Given the description of an element on the screen output the (x, y) to click on. 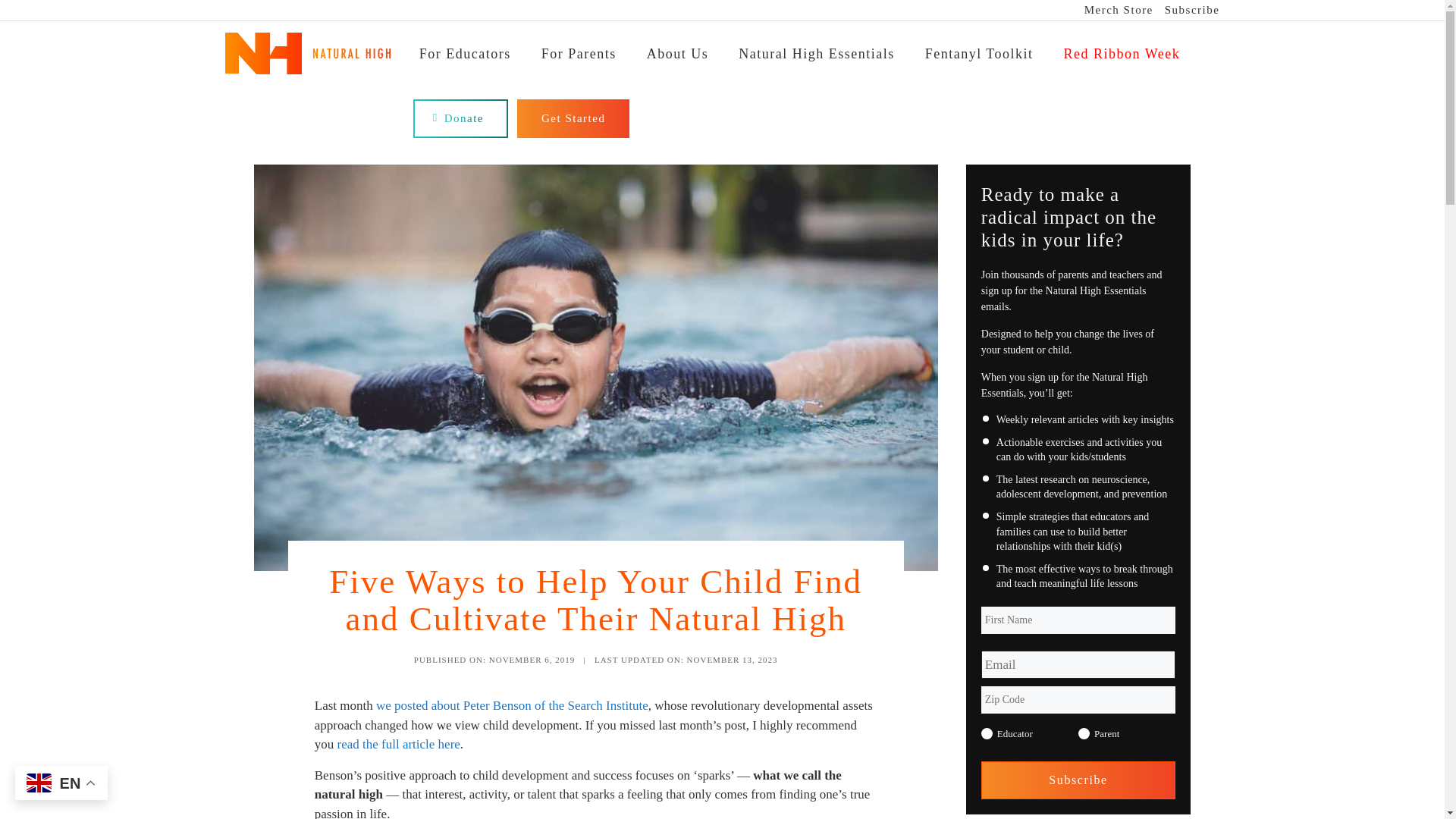
Drug Prevention Resources for Parents (578, 58)
Red Ribbon Week (1121, 58)
Subscribe (1078, 779)
Natural High Essentials (815, 58)
Natural High (308, 65)
Drug Prevention Resources for Educators (464, 58)
Donate (460, 118)
Subscribe (1192, 10)
For Educators (464, 58)
About Us (677, 58)
Merch Store (1118, 10)
For Parents (578, 58)
Get Started (572, 118)
Fentanyl Toolkit (979, 58)
